Given the description of an element on the screen output the (x, y) to click on. 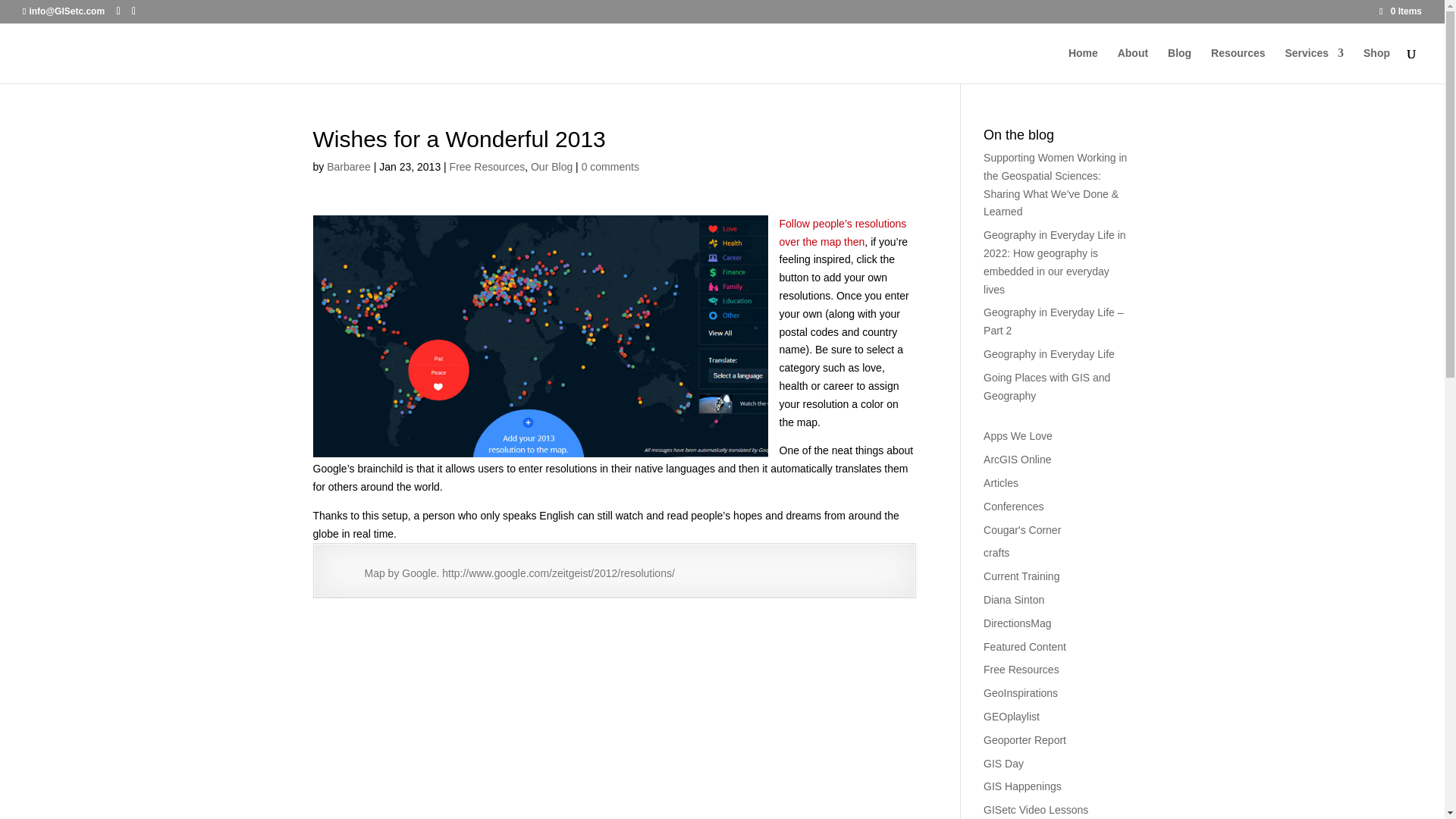
crafts (996, 552)
Geography in Everyday Life (1049, 354)
ArcGIS Online (1017, 459)
Apps We Love (1018, 435)
Conferences (1013, 506)
0 Items (1400, 10)
117 wishes (540, 336)
Articles (1000, 482)
Posts by Barbaree (348, 166)
Resources (1238, 65)
